Given the description of an element on the screen output the (x, y) to click on. 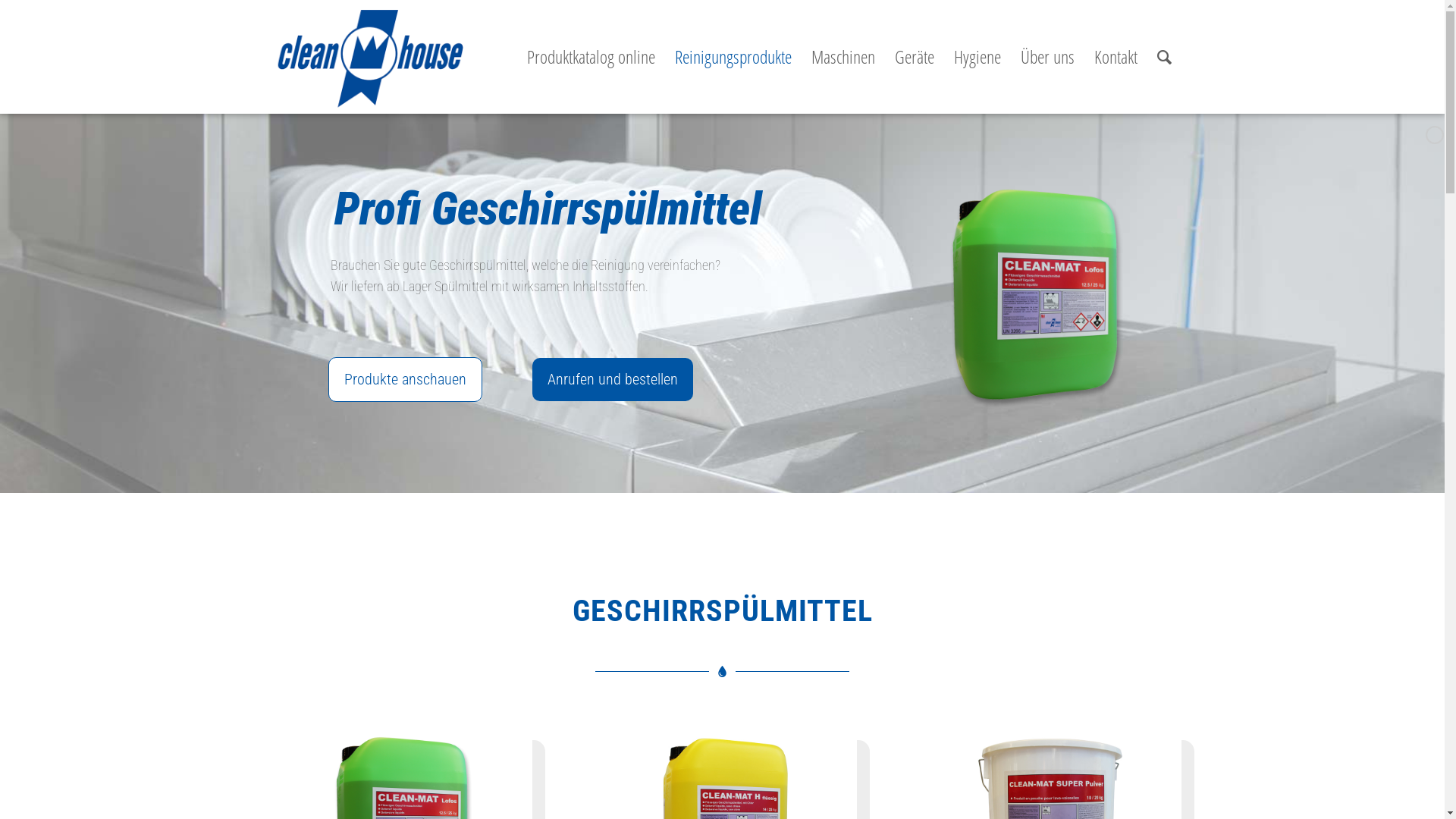
Hygiene Element type: text (976, 56)
Produktkatalog online Element type: text (591, 56)
logo Element type: hover (368, 56)
Kontakt Element type: text (1115, 56)
Maschinen Element type: text (842, 56)
Reinigungsprodukte Element type: text (732, 56)
